Given the description of an element on the screen output the (x, y) to click on. 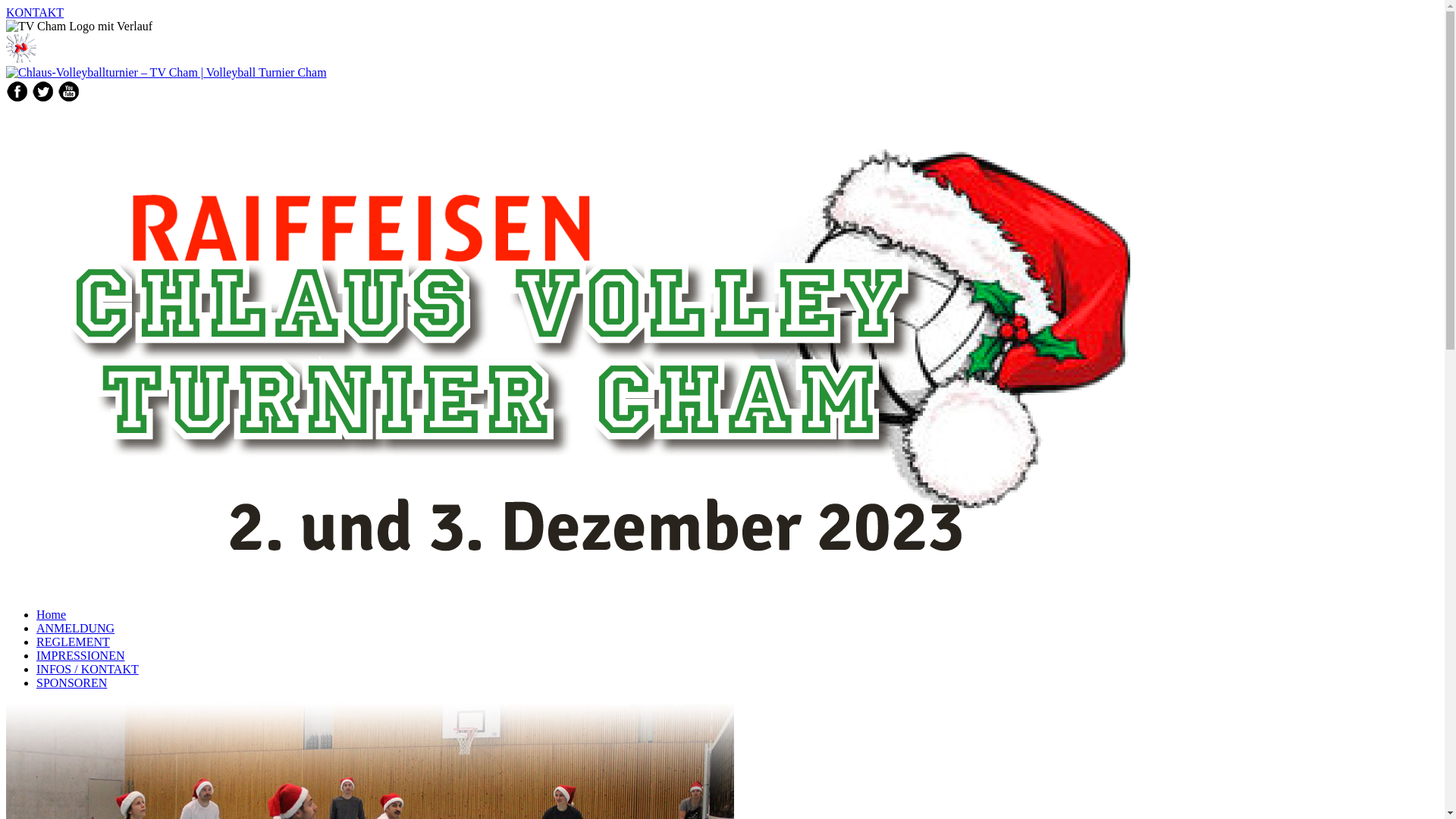
INFOS / KONTAKT Element type: text (87, 668)
IMPRESSIONEN Element type: text (80, 655)
TV Cham Logo mit Verlauf Element type: hover (79, 26)
TV Cham Logo mit Verlauf Element type: hover (21, 47)
SPONSOREN Element type: text (71, 682)
Chlaus-Volleyballturnier Cham TV Cham Element type: hover (612, 349)
REGLEMENT Element type: text (72, 641)
Home Element type: text (50, 614)
KONTAKT Element type: text (722, 12)
Zum Youtube-Channel vom Chlausvolley Turnier Element type: hover (68, 90)
ANMELDUNG Element type: text (75, 627)
Zur Twitter-Seite vom Chlausvolley Turnier Element type: hover (42, 90)
Zur Facebook-Seite vom Chlausvolley Turnier Element type: hover (17, 90)
